Given the description of an element on the screen output the (x, y) to click on. 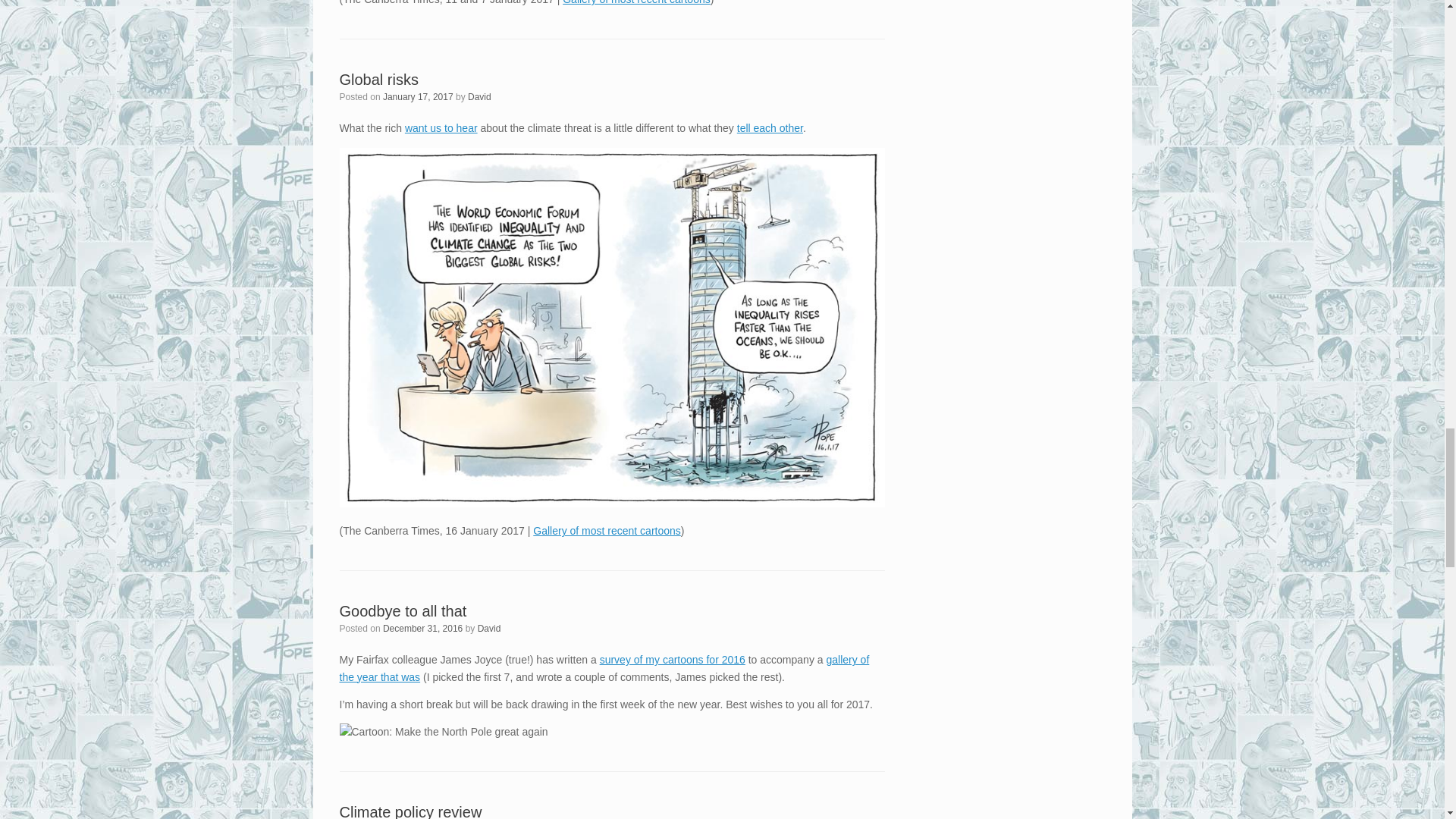
survey of my cartoons for 2016 (672, 659)
Permalink to Goodbye to all that (403, 610)
7:17 am (417, 96)
Gallery of most recent cartoons (606, 530)
Global risks (379, 79)
David (479, 96)
December 31, 2016 (422, 628)
David (488, 628)
Climate policy review (410, 811)
Permalink to Climate policy review (410, 811)
tell each other (769, 128)
want us to hear (440, 128)
5:06 pm (422, 628)
View all posts by David (479, 96)
View all posts by David (488, 628)
